Given the description of an element on the screen output the (x, y) to click on. 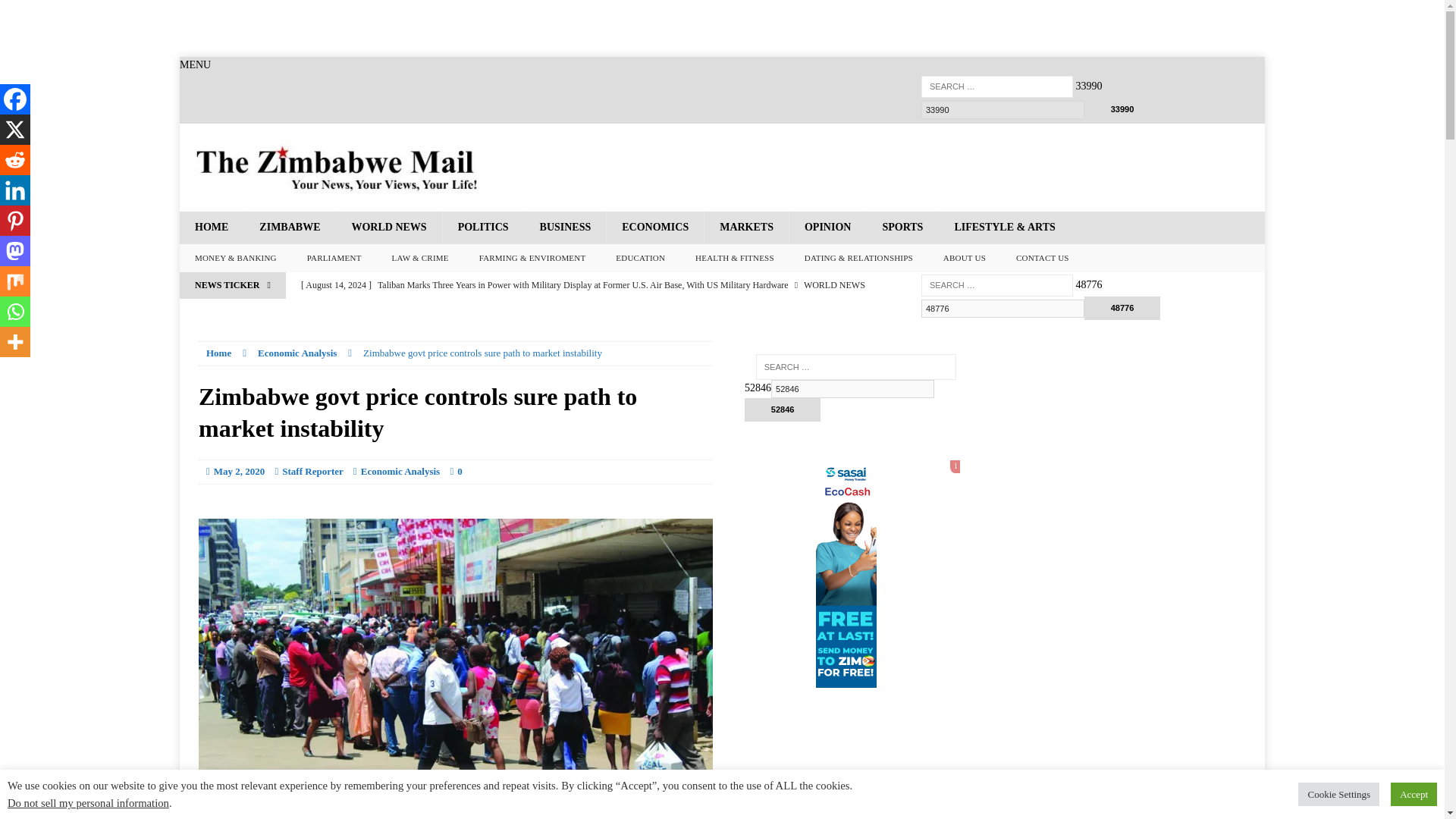
52846 (852, 389)
ECONOMICS (654, 227)
HOME (211, 227)
POLITICS (483, 227)
48776 (1122, 308)
48776 (1122, 308)
OPINION (827, 227)
PARLIAMENT (334, 258)
The Zimbabwe Mail (337, 167)
